Given the description of an element on the screen output the (x, y) to click on. 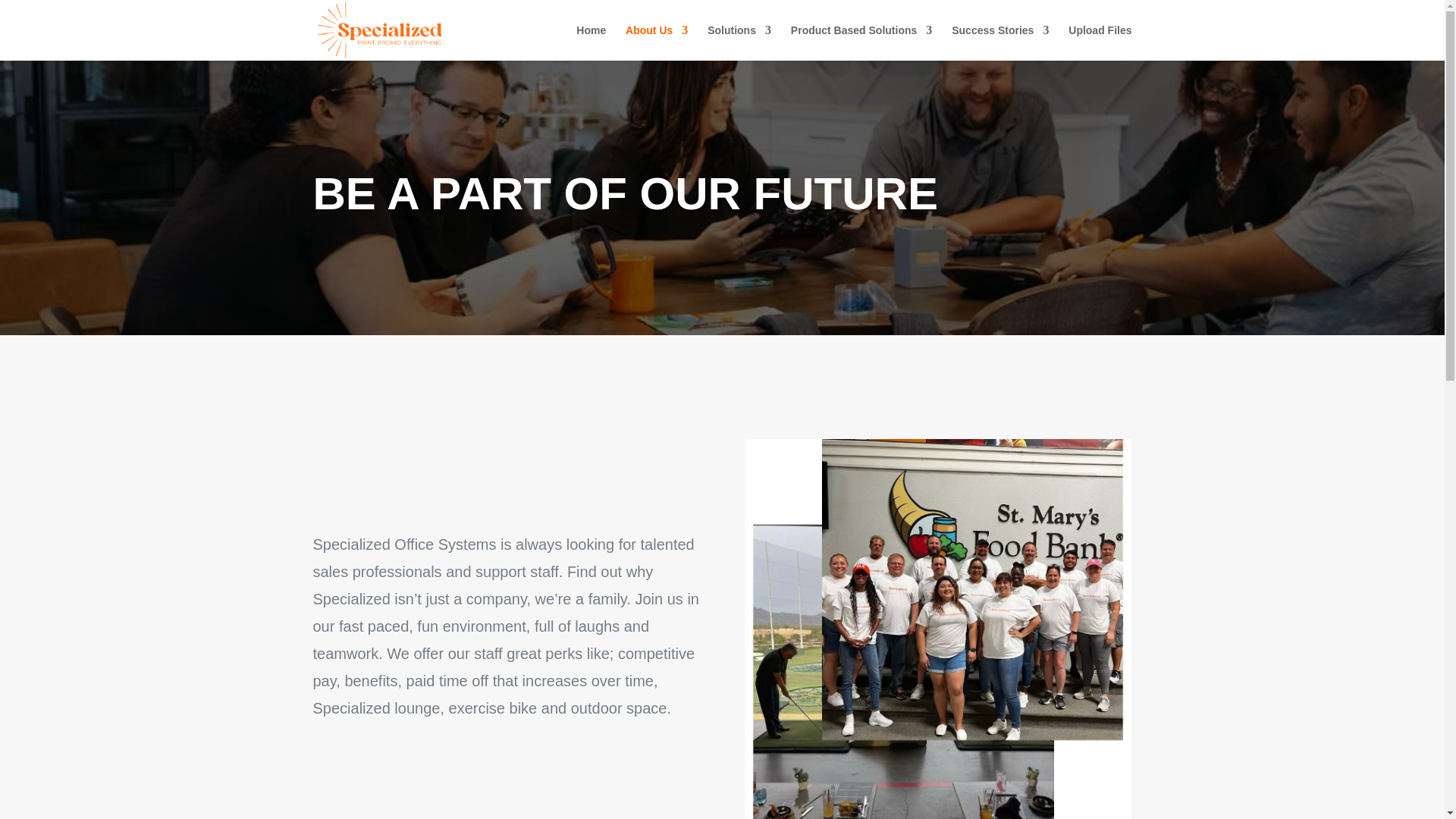
Upload Files (1099, 42)
Success Stories (1000, 42)
Solutions (739, 42)
Product Based Solutions (860, 42)
Home (590, 42)
About Us (656, 42)
